Given the description of an element on the screen output the (x, y) to click on. 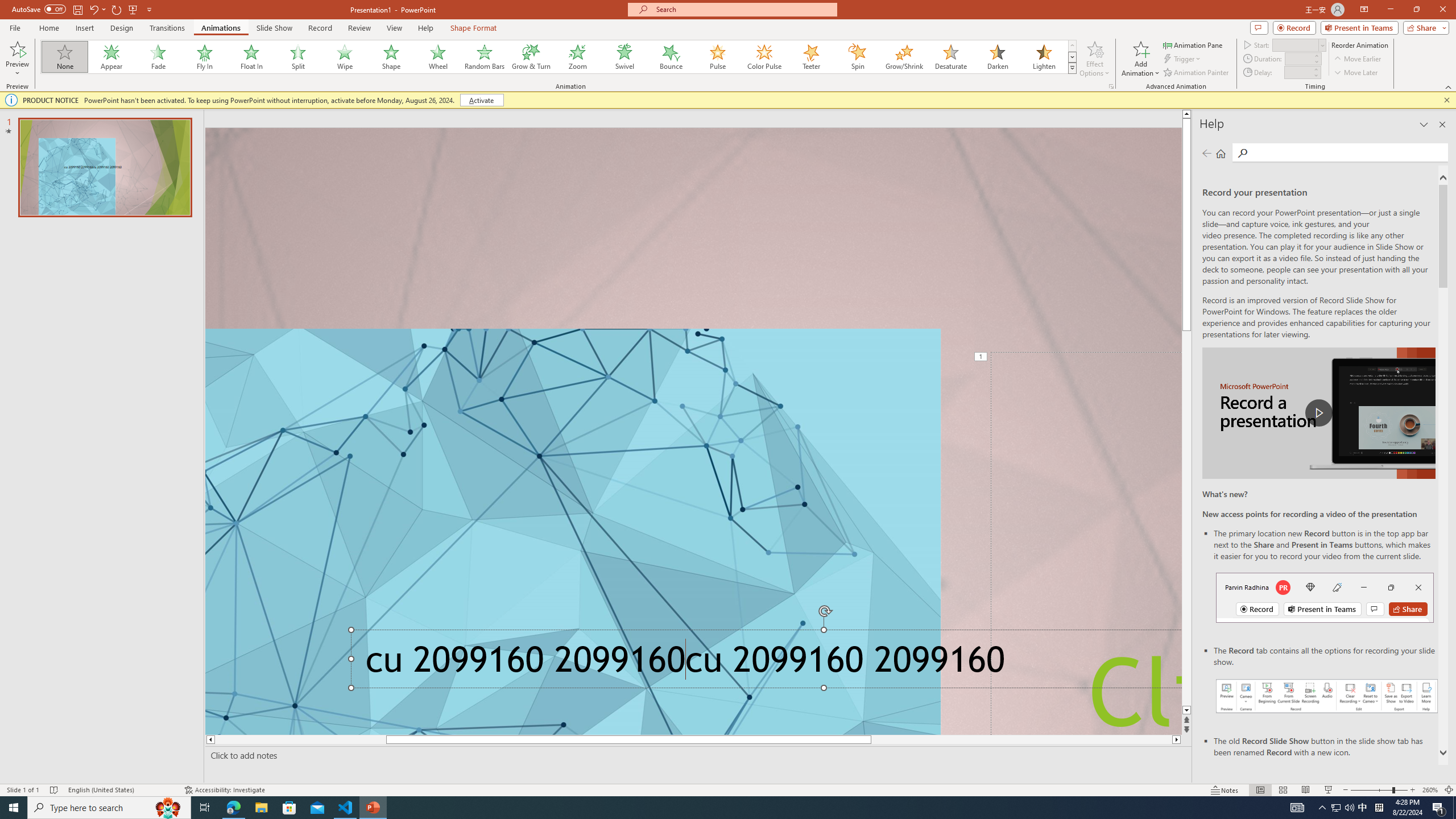
An abstract genetic concept (693, 430)
Add Animation (1141, 58)
Shape (391, 56)
Animation Duration (1298, 58)
Effect Options (1094, 58)
Lighten (1043, 56)
Animation Delay (1297, 72)
Animation Pane (1193, 44)
Animation Painter (1196, 72)
Move Earlier (1357, 58)
